Given the description of an element on the screen output the (x, y) to click on. 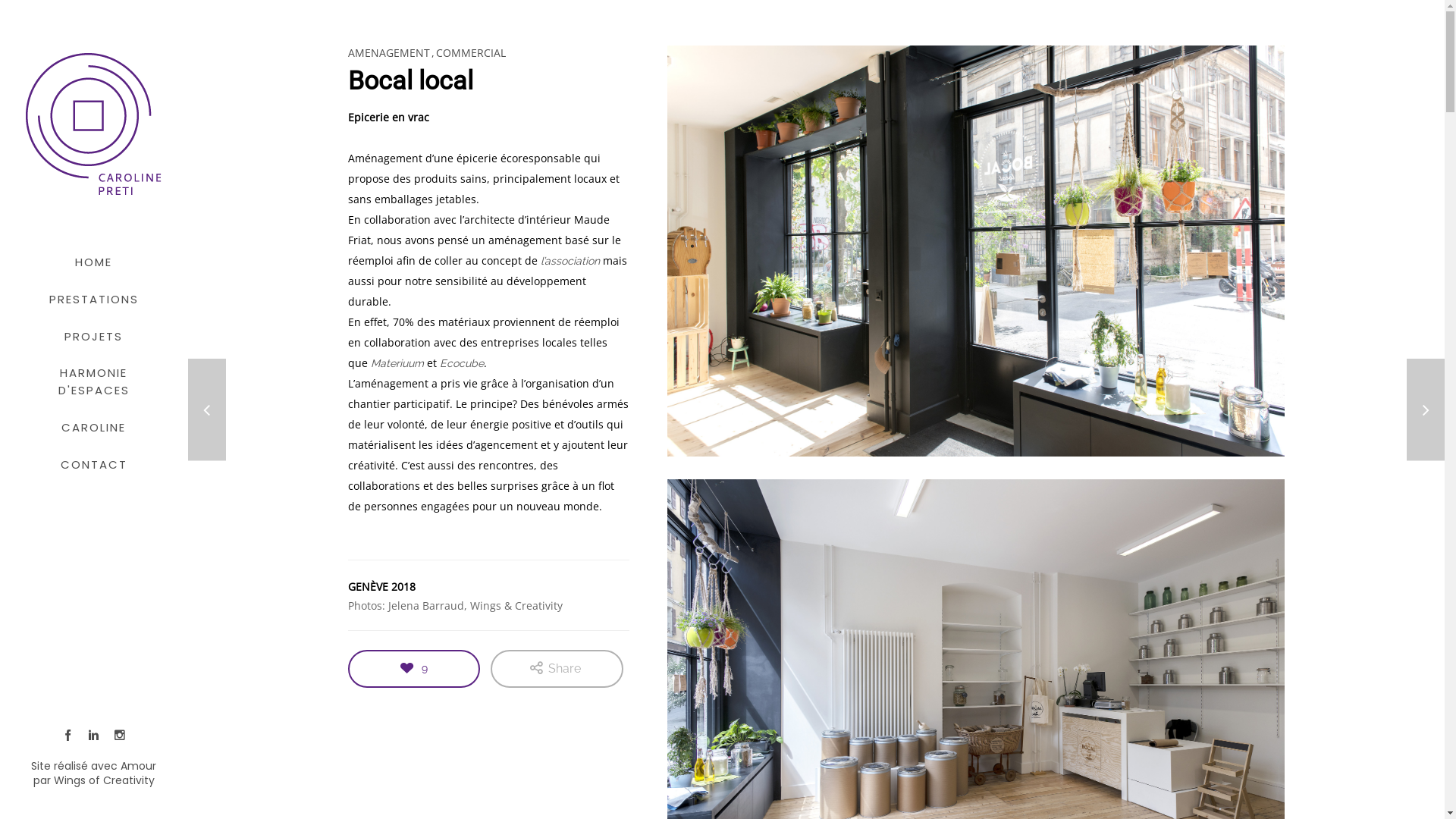
CAROLINE Element type: text (94, 429)
9 Element type: text (414, 668)
HARMONIE D'ESPACES Element type: text (94, 383)
Materiuum Element type: text (396, 363)
HOME Element type: text (94, 263)
CONTACT Element type: text (94, 467)
Ecocube Element type: text (461, 363)
linkedin Element type: hover (93, 735)
PROJETS Element type: text (94, 338)
PRESTATIONS Element type: text (94, 300)
instagram Element type: hover (119, 735)
Share Element type: text (556, 668)
facebook Element type: hover (67, 735)
